Given the description of an element on the screen output the (x, y) to click on. 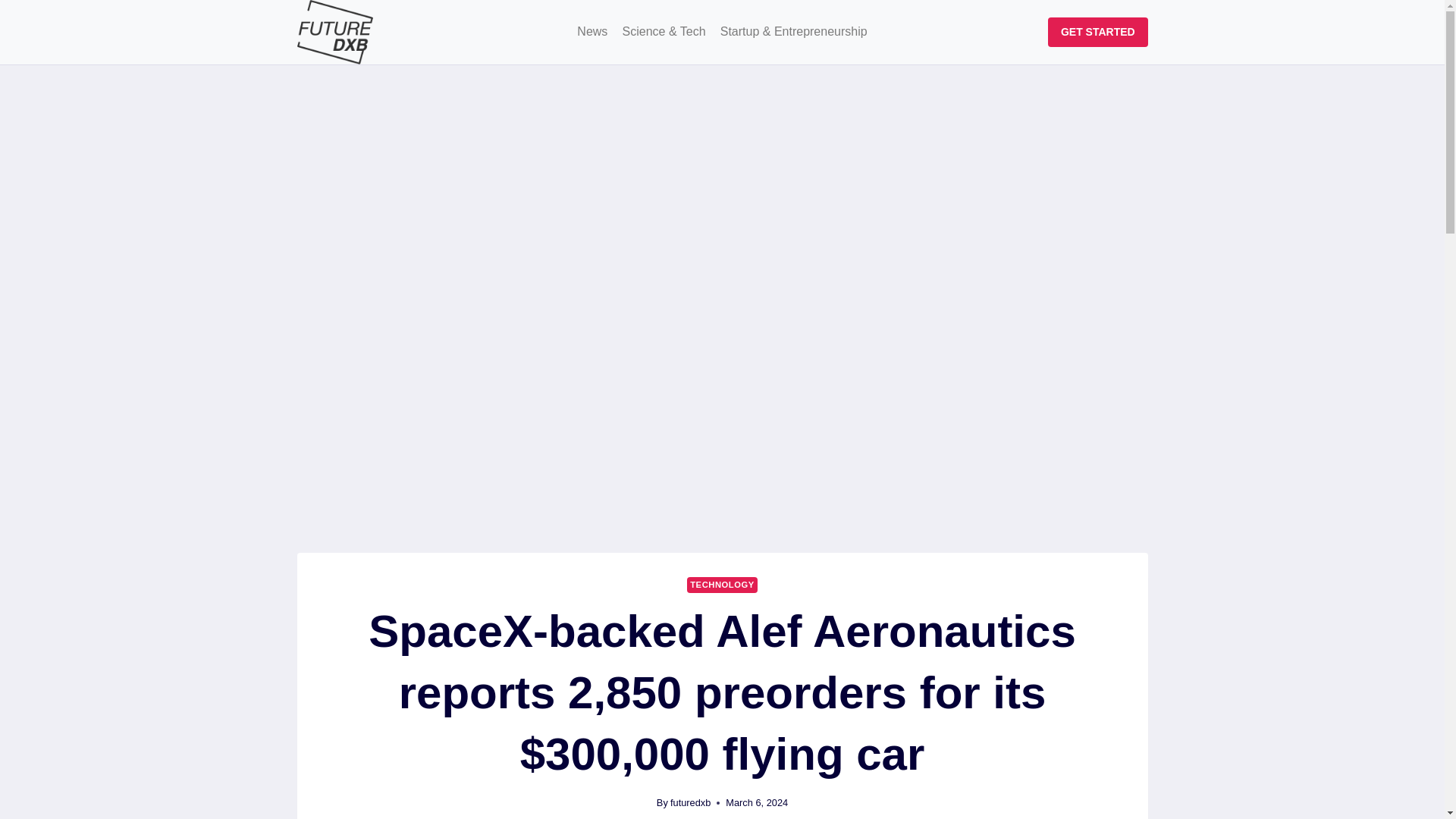
News (592, 32)
TECHNOLOGY (722, 584)
GET STARTED (1097, 31)
futuredxb (689, 802)
